Given the description of an element on the screen output the (x, y) to click on. 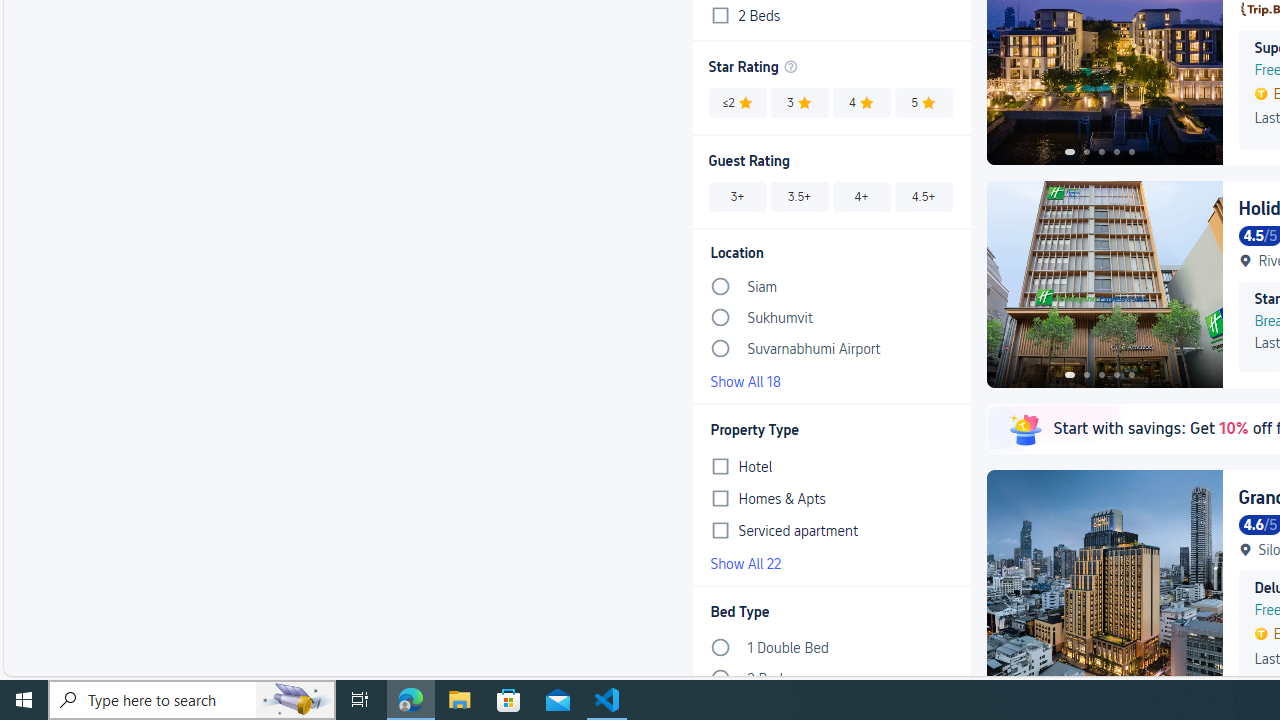
Class: m-lazyImg__img (1024, 428)
3+ (736, 196)
4+ (861, 196)
4.5+ (923, 196)
3.5+ (799, 196)
Show All 18 (831, 380)
